Given the description of an element on the screen output the (x, y) to click on. 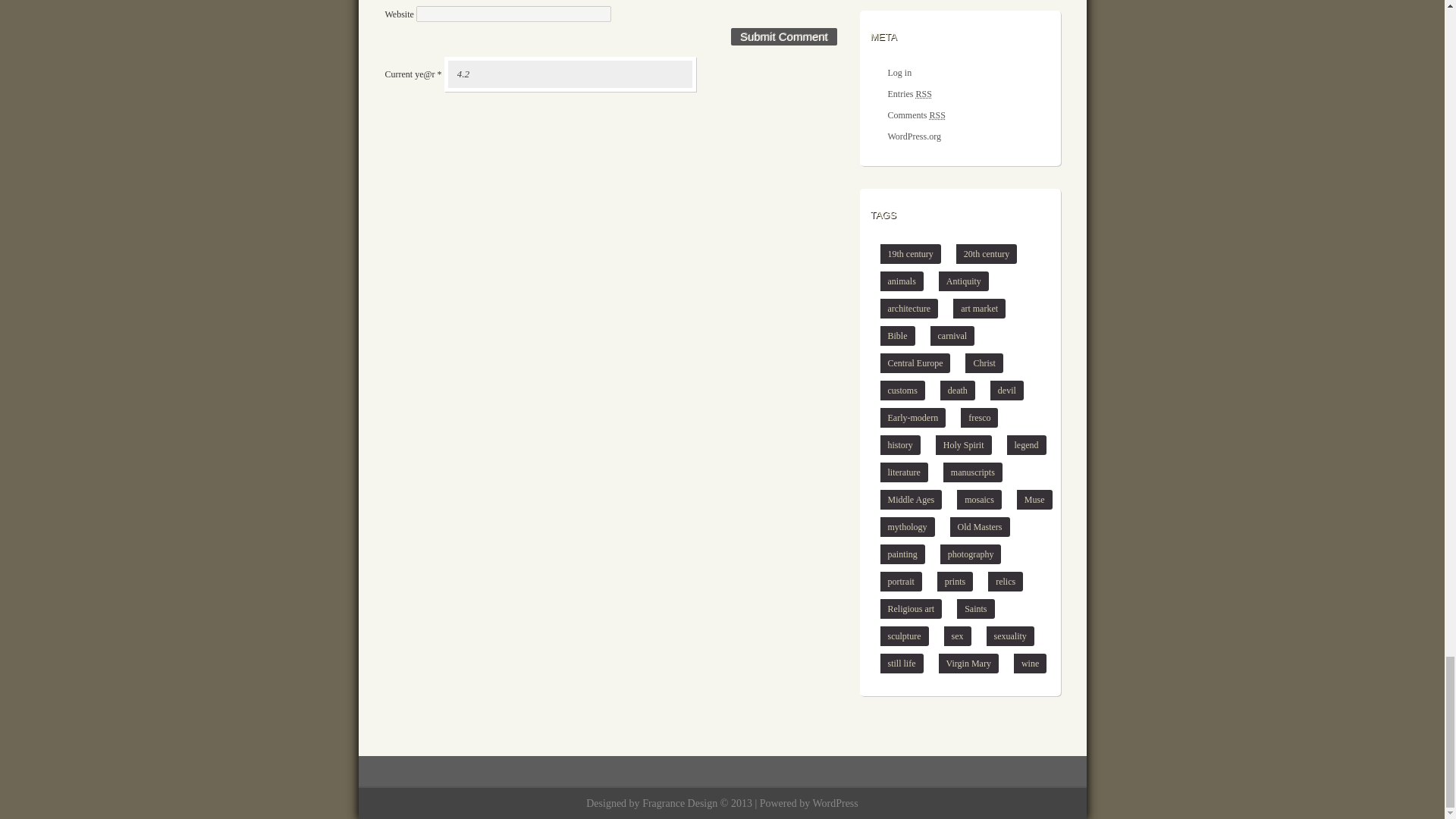
Submit Comment (783, 36)
Really Simple Syndication (923, 93)
4.2 (569, 73)
Really Simple Syndication (937, 114)
Submit Comment (783, 36)
